Given the description of an element on the screen output the (x, y) to click on. 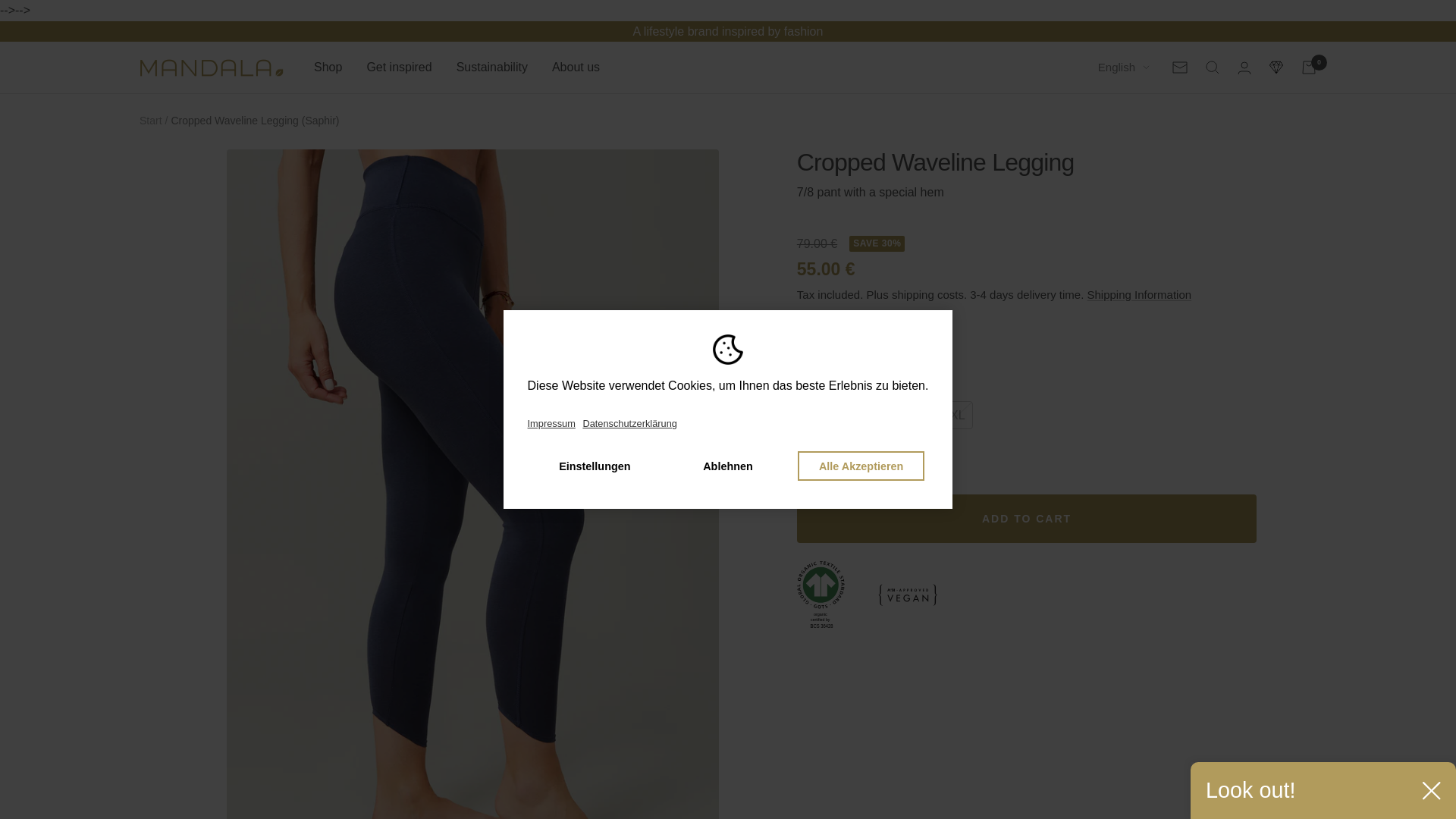
Start (150, 120)
Impressum (553, 423)
About us (575, 66)
de (1114, 147)
Shop (328, 66)
English (1123, 66)
en (1114, 120)
Einstellungen (595, 466)
Newsletter (1180, 67)
Get inspired (398, 66)
0 (1308, 67)
